Given the description of an element on the screen output the (x, y) to click on. 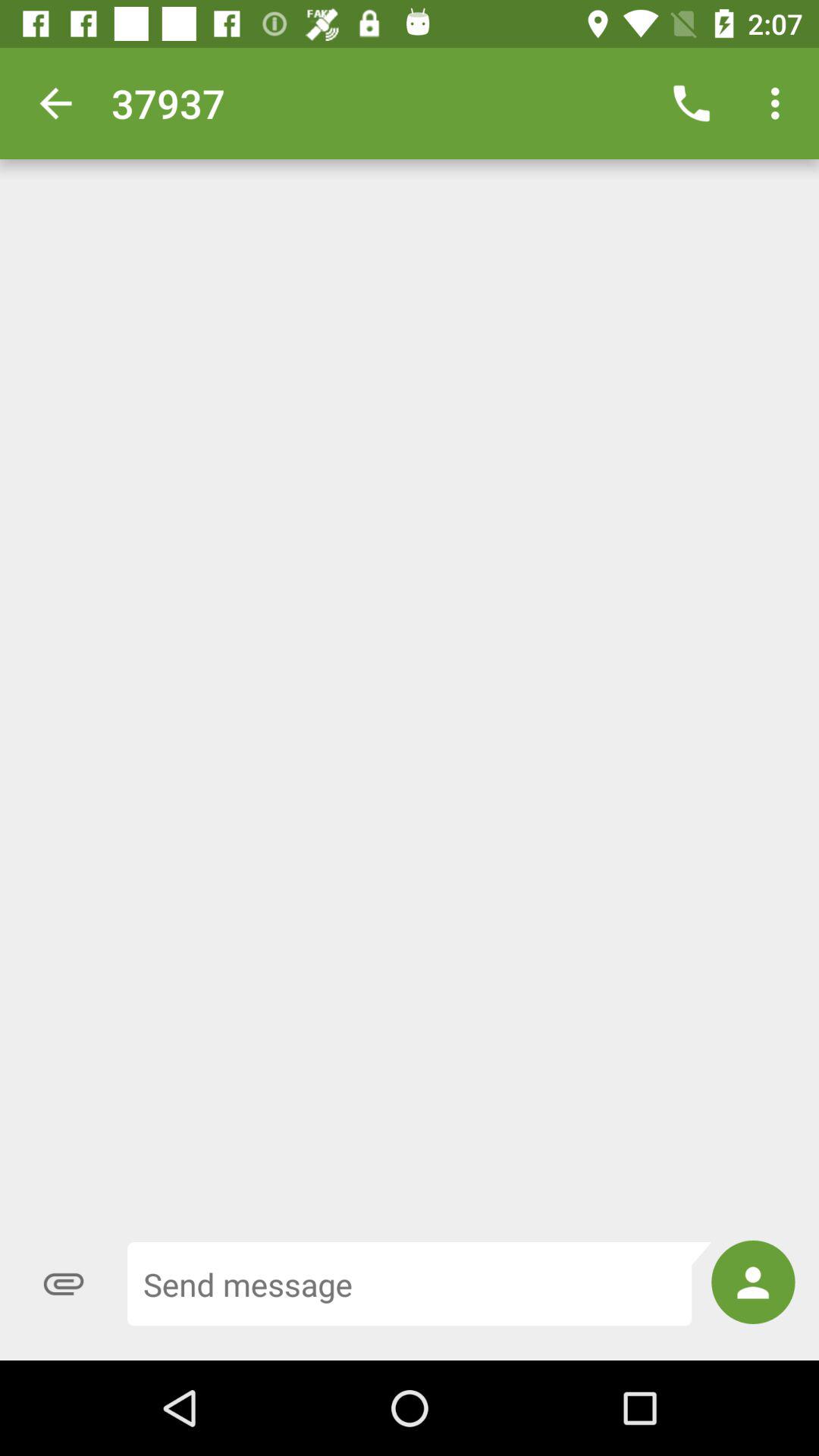
open item at the bottom right corner (753, 1282)
